Given the description of an element on the screen output the (x, y) to click on. 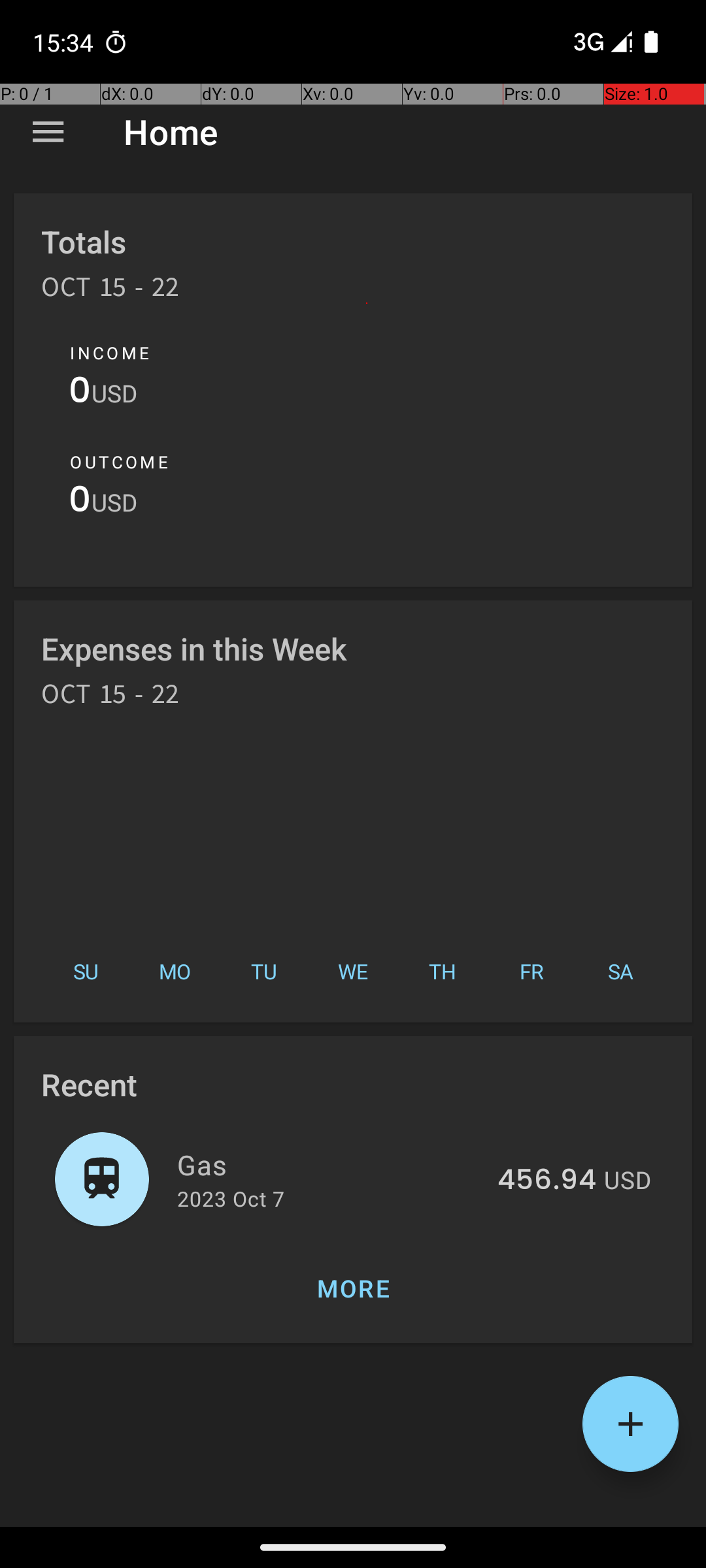
456.94 Element type: android.widget.TextView (546, 1180)
